Given the description of an element on the screen output the (x, y) to click on. 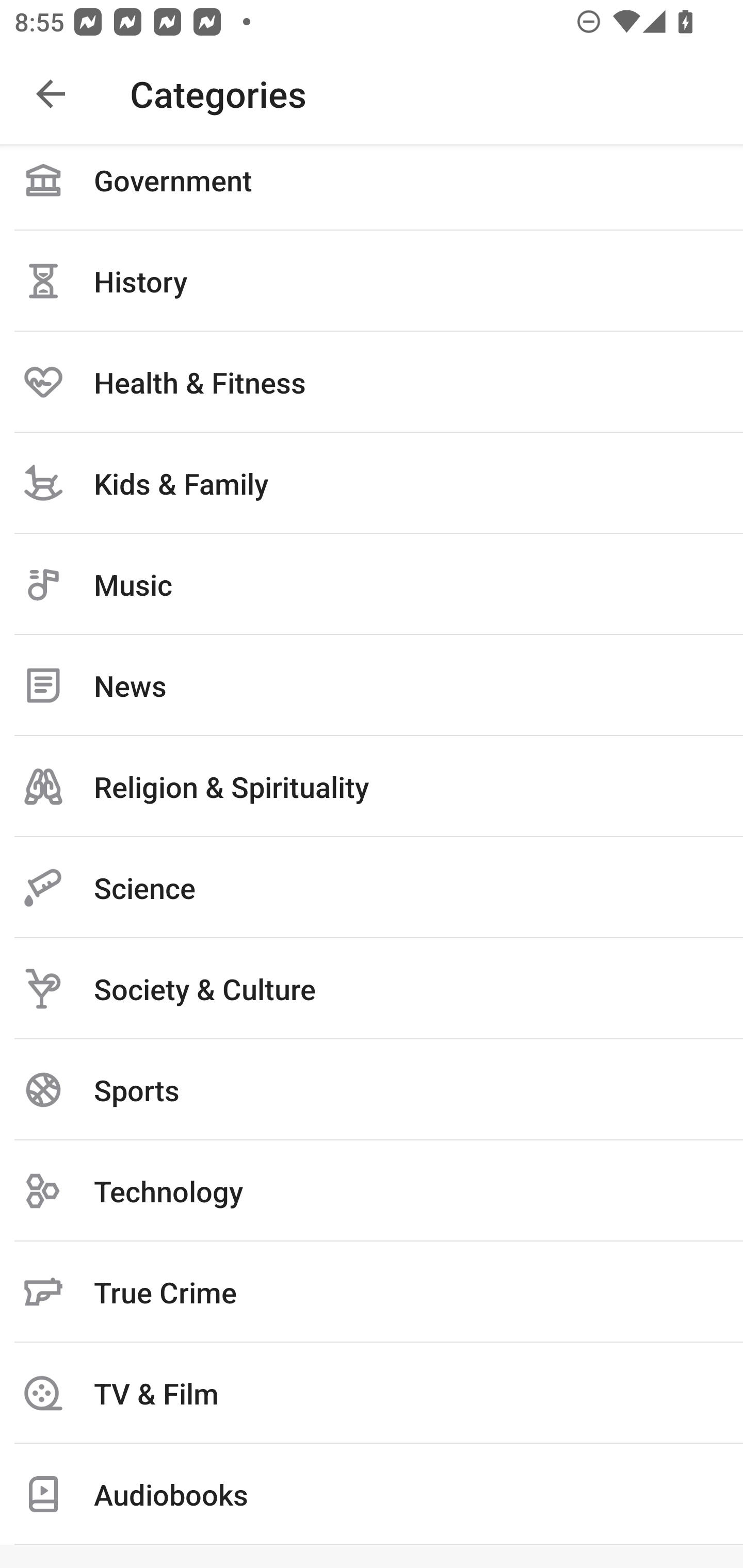
Navigate up (50, 93)
Government (371, 187)
History (371, 281)
Health & Fitness (371, 382)
Kids & Family (371, 482)
Music (371, 584)
News (371, 685)
Religion & Spirituality (371, 786)
Science (371, 887)
Society & Culture (371, 988)
Sports (371, 1089)
Technology (371, 1190)
True Crime (371, 1291)
TV & Film (371, 1393)
Audiobooks (371, 1494)
